Given the description of an element on the screen output the (x, y) to click on. 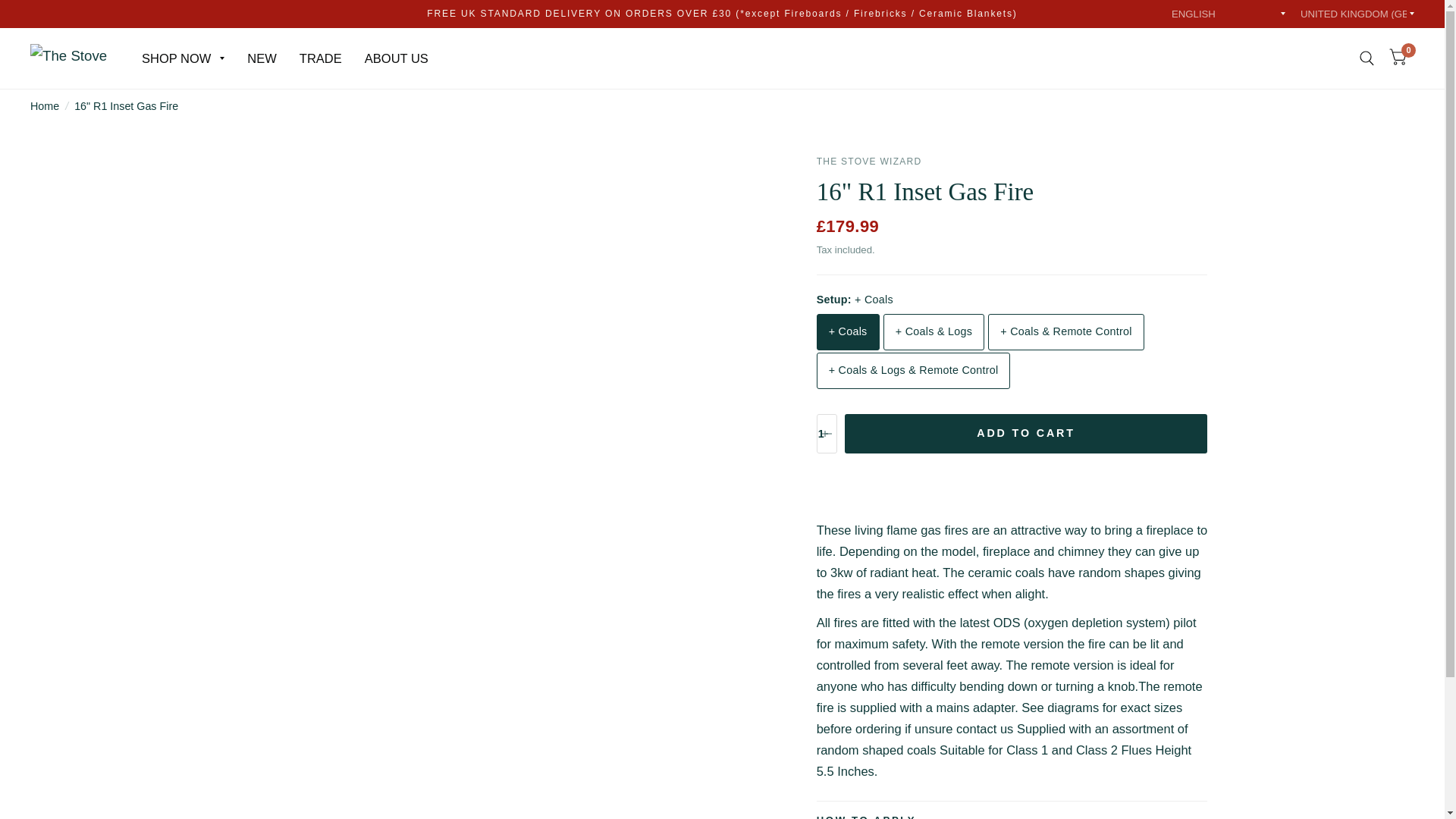
SHOP NOW (182, 58)
1 (825, 433)
